Given the description of an element on the screen output the (x, y) to click on. 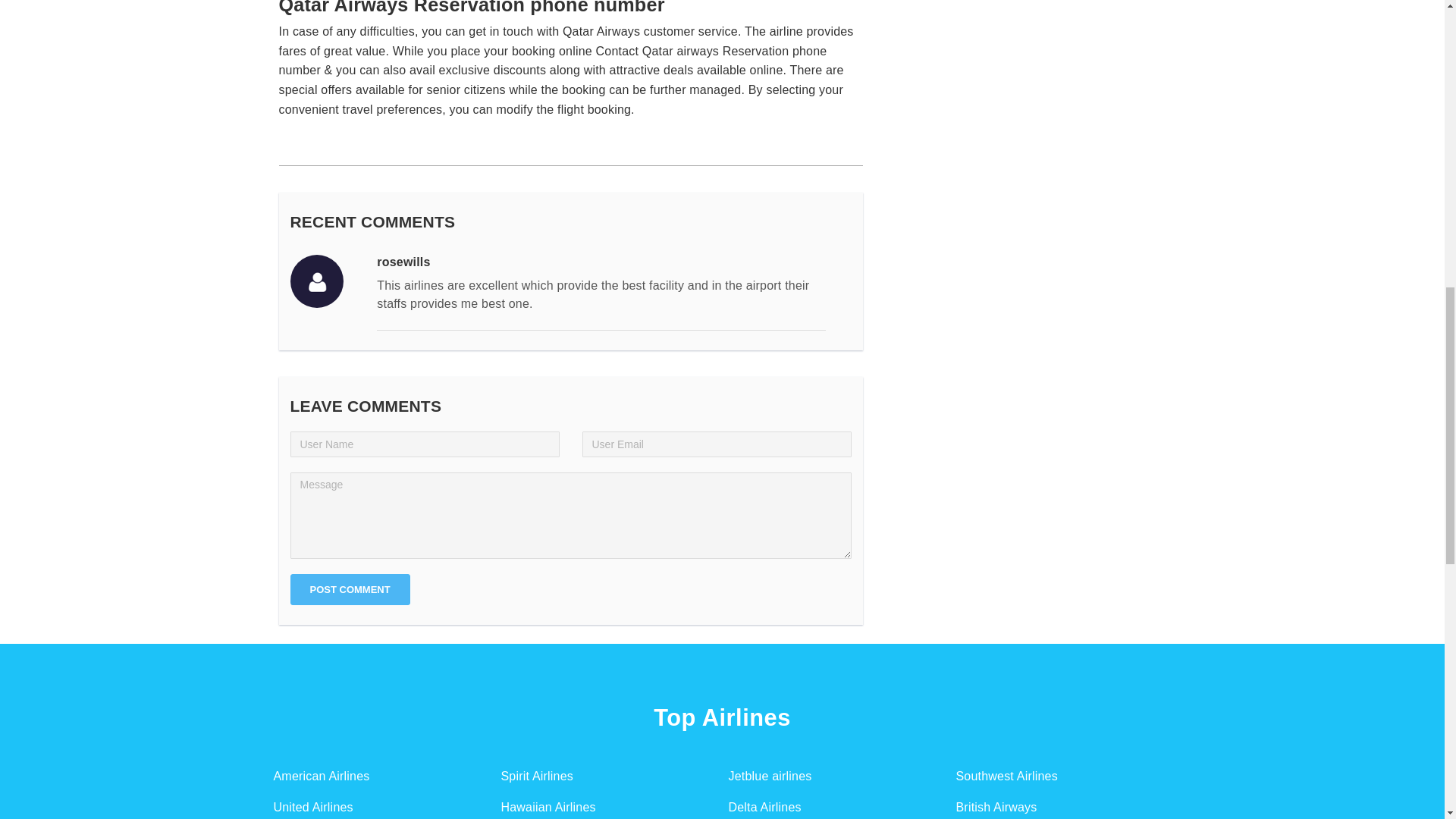
POST COMMENT (349, 589)
